Given the description of an element on the screen output the (x, y) to click on. 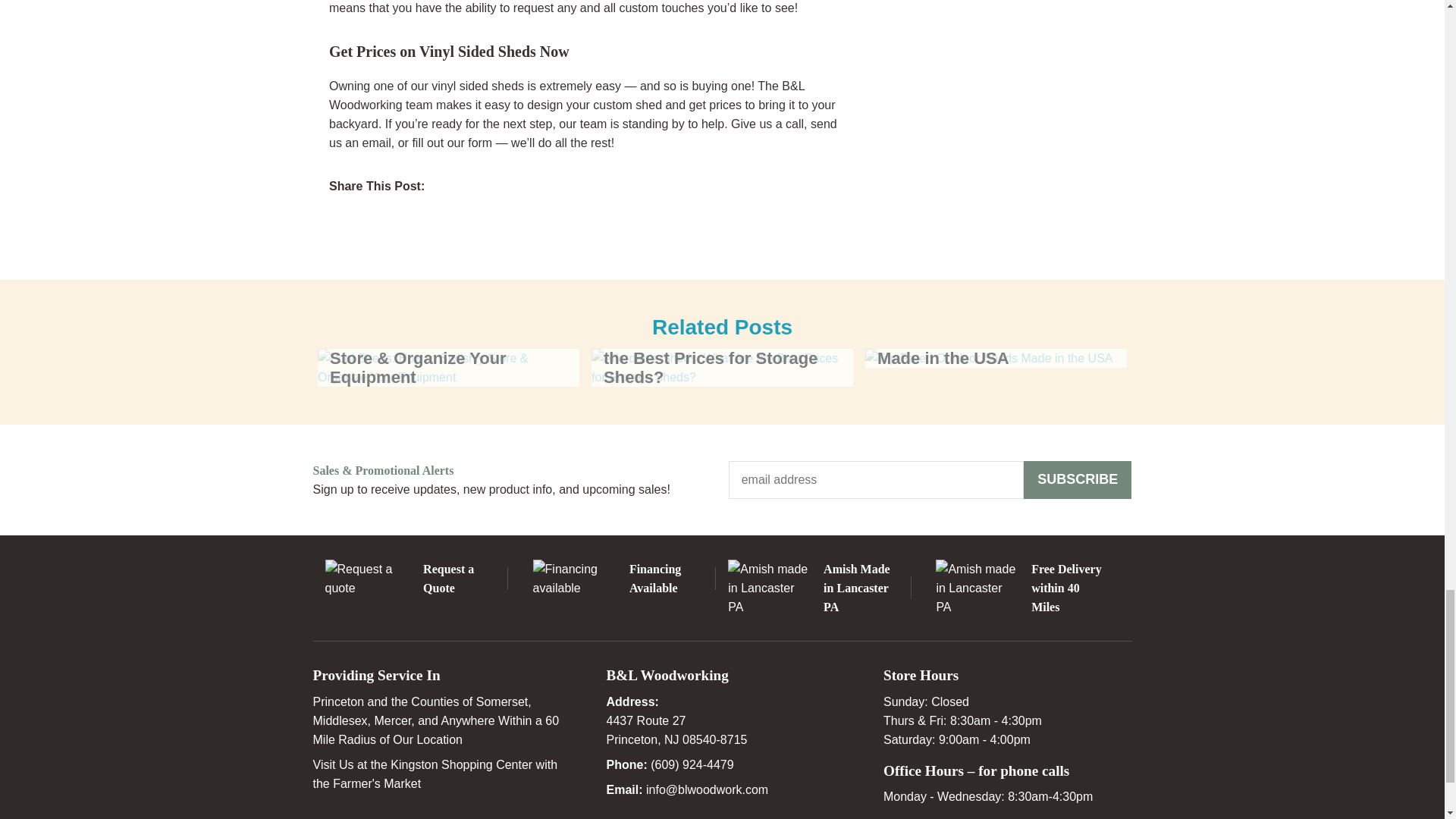
Top Rated Outdoor Sheds Made in the USA (995, 357)
Subscribe (1077, 479)
